Given the description of an element on the screen output the (x, y) to click on. 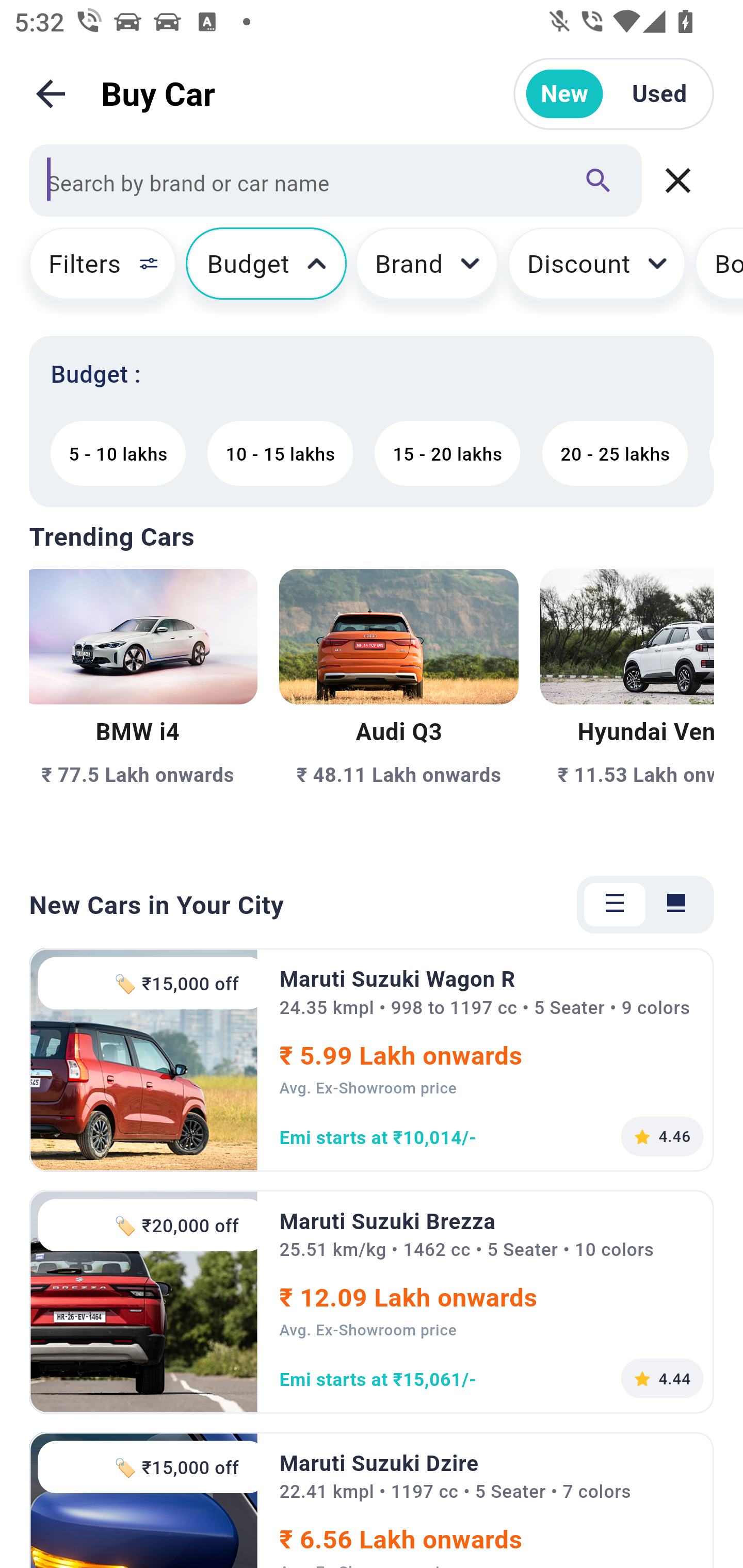
Back (50, 93)
New (564, 93)
Used (659, 93)
Filters (93, 270)
Budget (265, 270)
Brand (427, 270)
Discount (596, 270)
5 - 10 lakhs (117, 453)
10 - 15 lakhs (279, 453)
15 - 20 lakhs (447, 453)
20 - 25 lakhs (615, 453)
₹ 77.5 Lakh onwards BMW i4 (142, 709)
₹ 48.11 Lakh onwards Audi Q3 (398, 709)
₹ 11.53 Lakh onwards Hyundai Venue (627, 709)
Tab 1 of 2 (614, 904)
Tab 2 of 2 (675, 904)
